Given the description of an element on the screen output the (x, y) to click on. 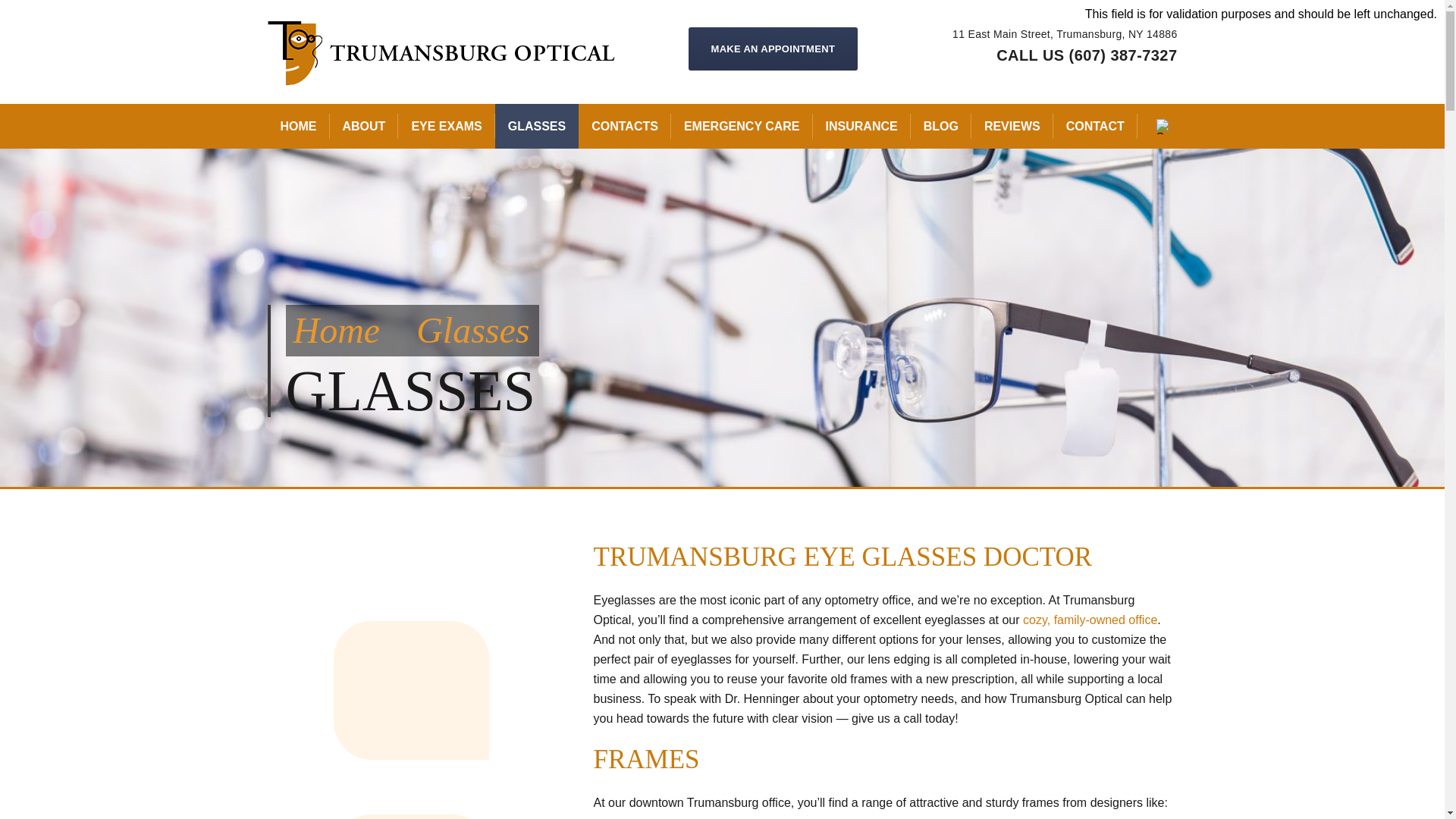
GLASSES (536, 126)
Go to Trumansburg Optical. (336, 330)
EMERGENCY CARE (741, 126)
cozy, family-owned office (1090, 619)
HOME (297, 126)
Search (28, 16)
REVIEWS (1011, 126)
BLOG (941, 126)
Icon (411, 690)
INSURANCE (861, 126)
